Given the description of an element on the screen output the (x, y) to click on. 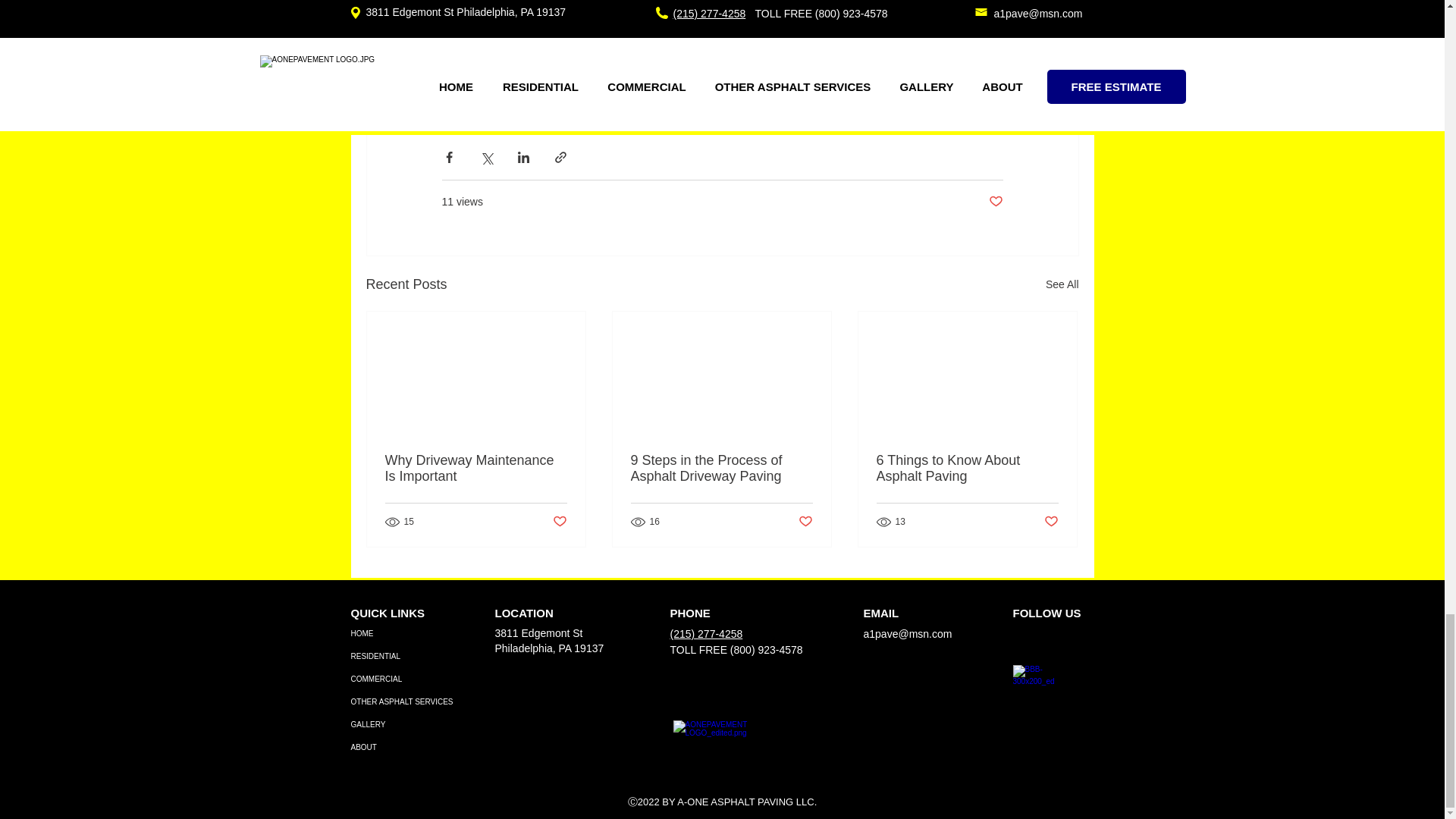
driveway paving service (729, 5)
Post not marked as liked (995, 201)
Post not marked as liked (1050, 521)
COMMERCIAL (403, 679)
OTHER ASPHALT SERVICES (403, 702)
See All (1061, 284)
RESIDENTIAL (403, 656)
6 Things to Know About Asphalt Paving (967, 468)
9 Steps in the Process of Asphalt Driveway Paving (721, 468)
Post not marked as liked (804, 521)
